Given the description of an element on the screen output the (x, y) to click on. 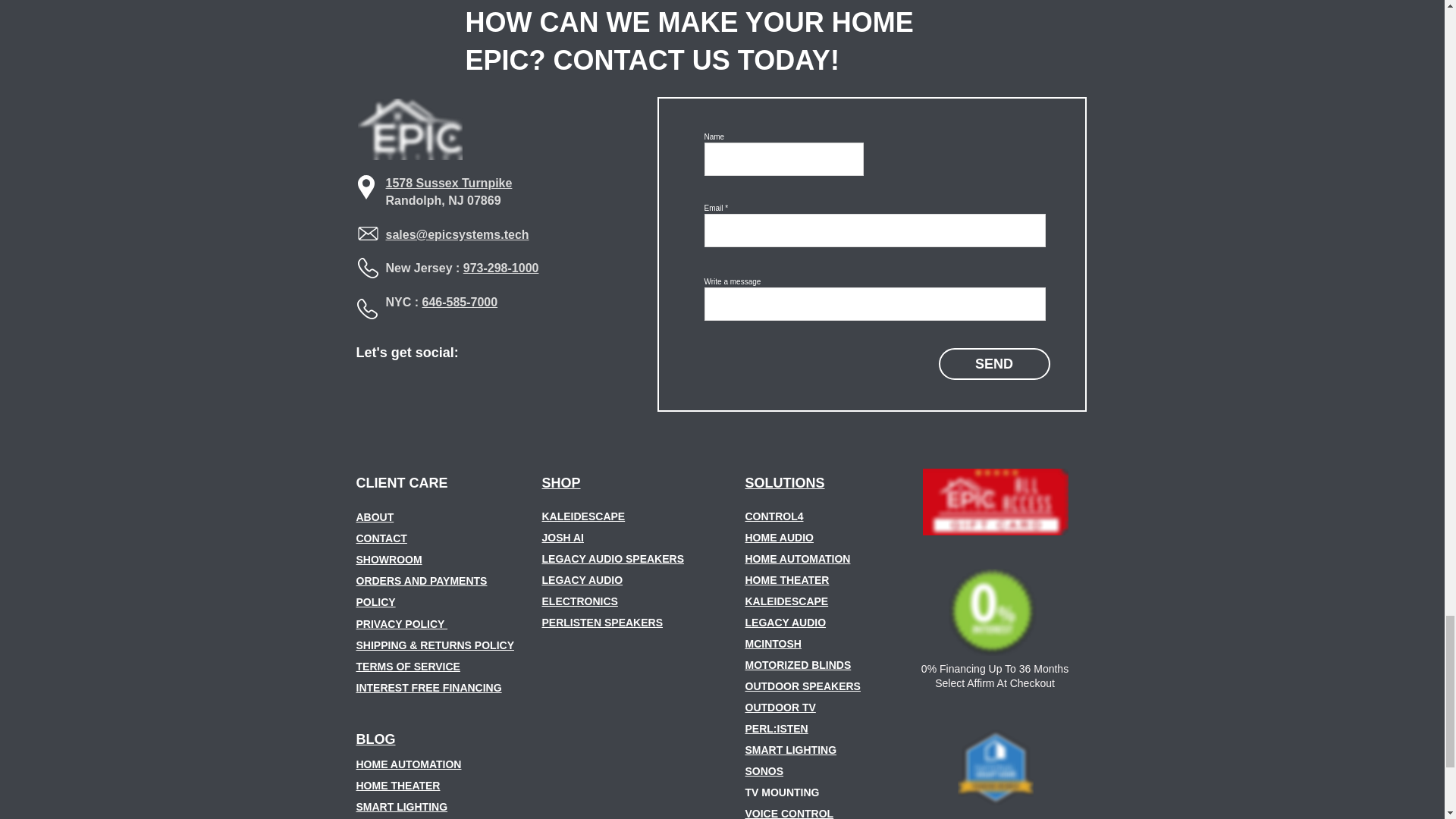
Home Theaters and Smart Services By Epic Systems (410, 128)
Epic GiftCard  (994, 501)
National Smart Member Bergen County NJ (994, 767)
